Given the description of an element on the screen output the (x, y) to click on. 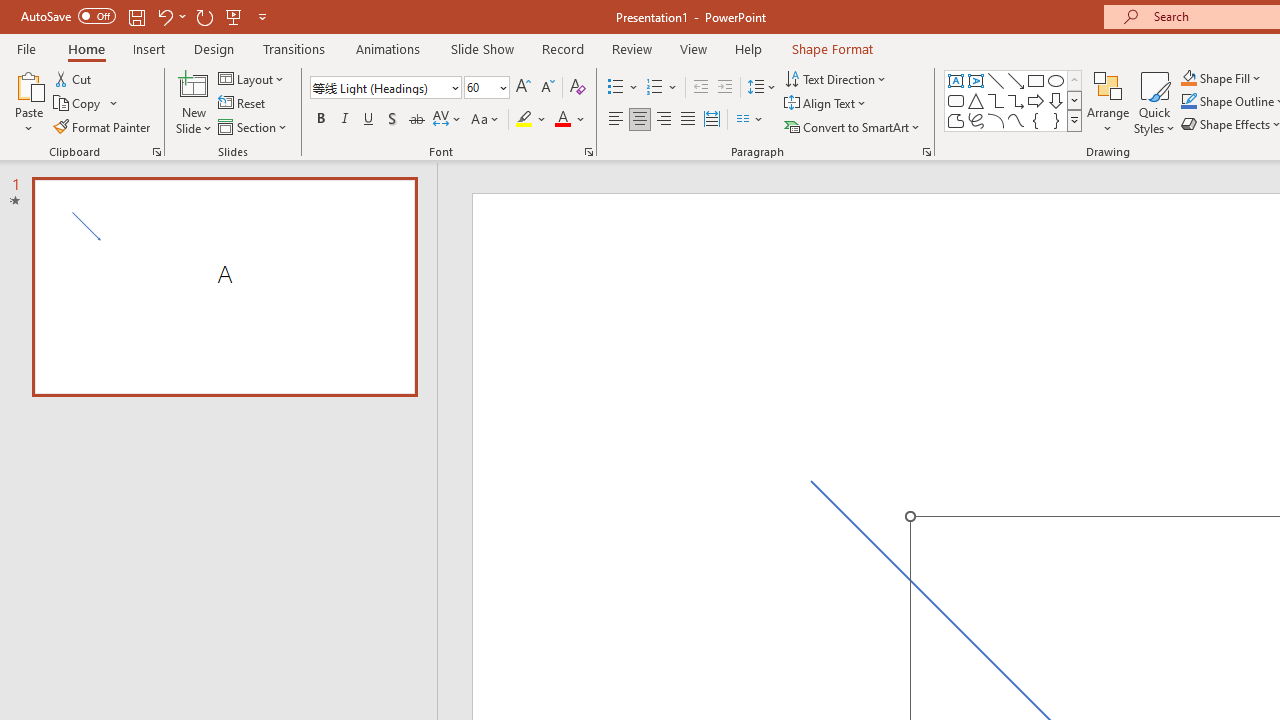
Shape Outline Blue, Accent 1 (1188, 101)
